Given the description of an element on the screen output the (x, y) to click on. 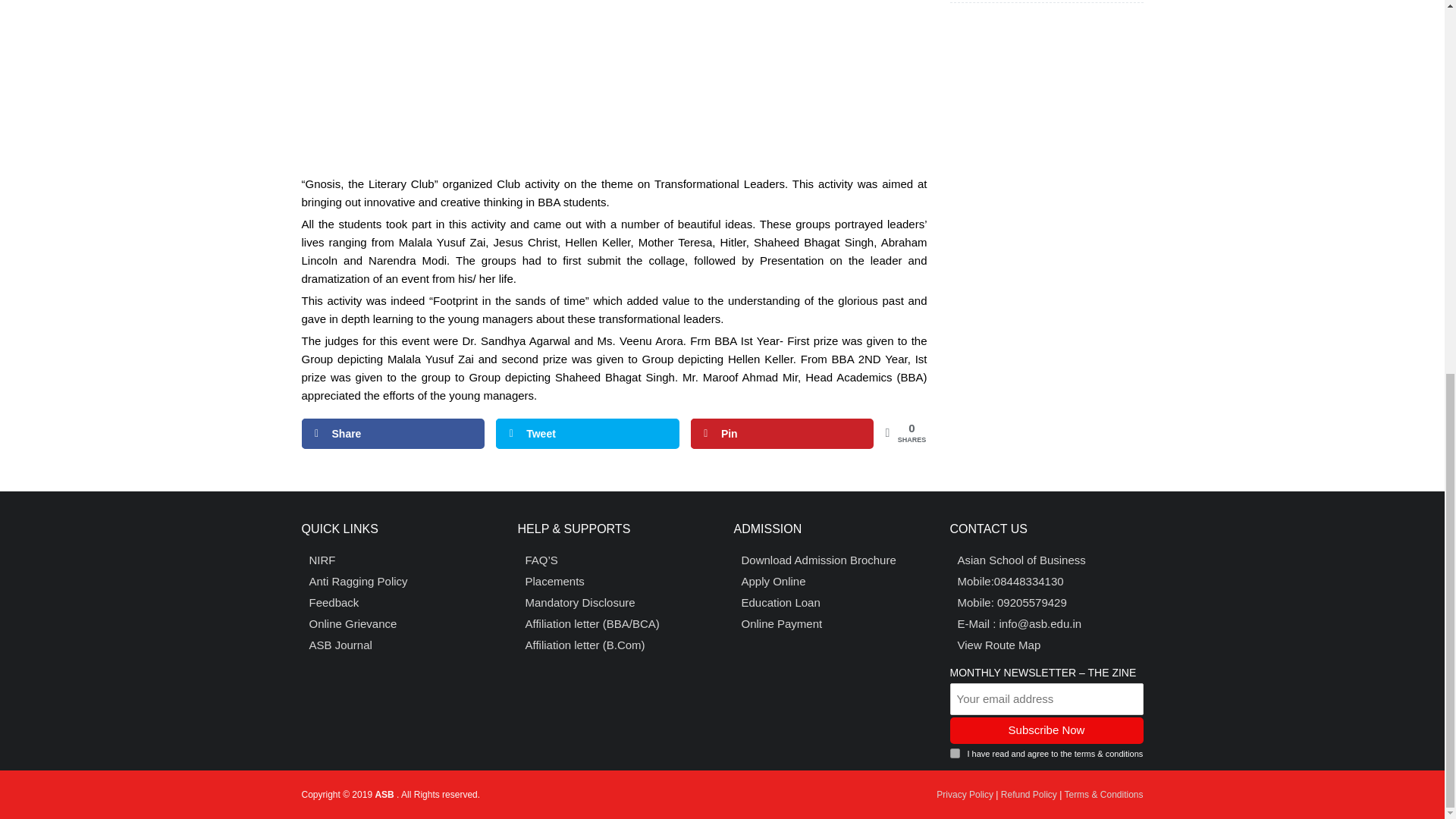
Subscribe Now (1045, 730)
